Given the description of an element on the screen output the (x, y) to click on. 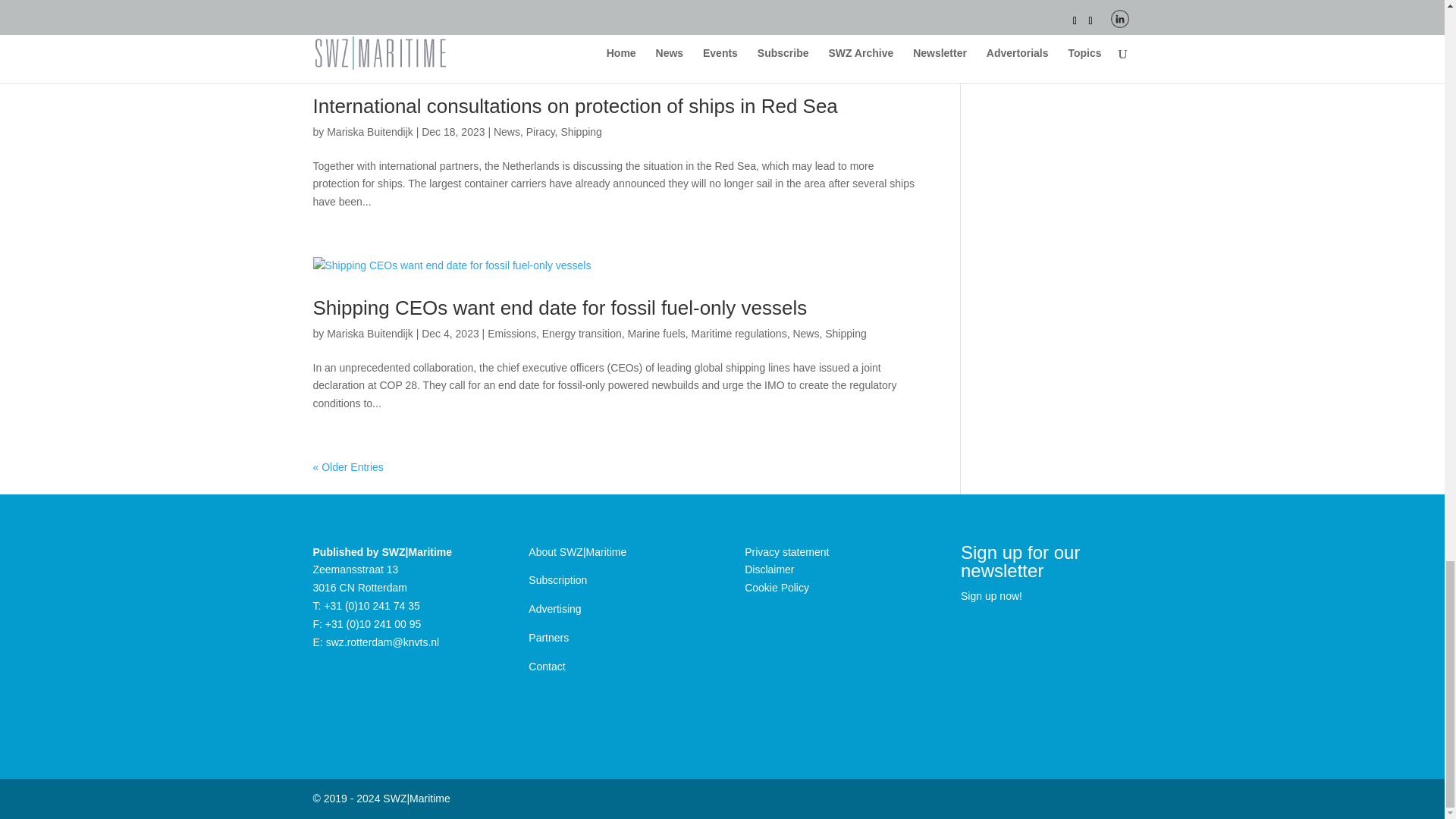
Mariska Buitendijk (369, 132)
Posts by Mariska Buitendijk (369, 333)
Partners (548, 637)
Emissions (511, 333)
Shipping (581, 132)
Subscription (557, 580)
Mariska Buitendijk (369, 333)
Advertising (554, 608)
Piracy (539, 132)
